Given the description of an element on the screen output the (x, y) to click on. 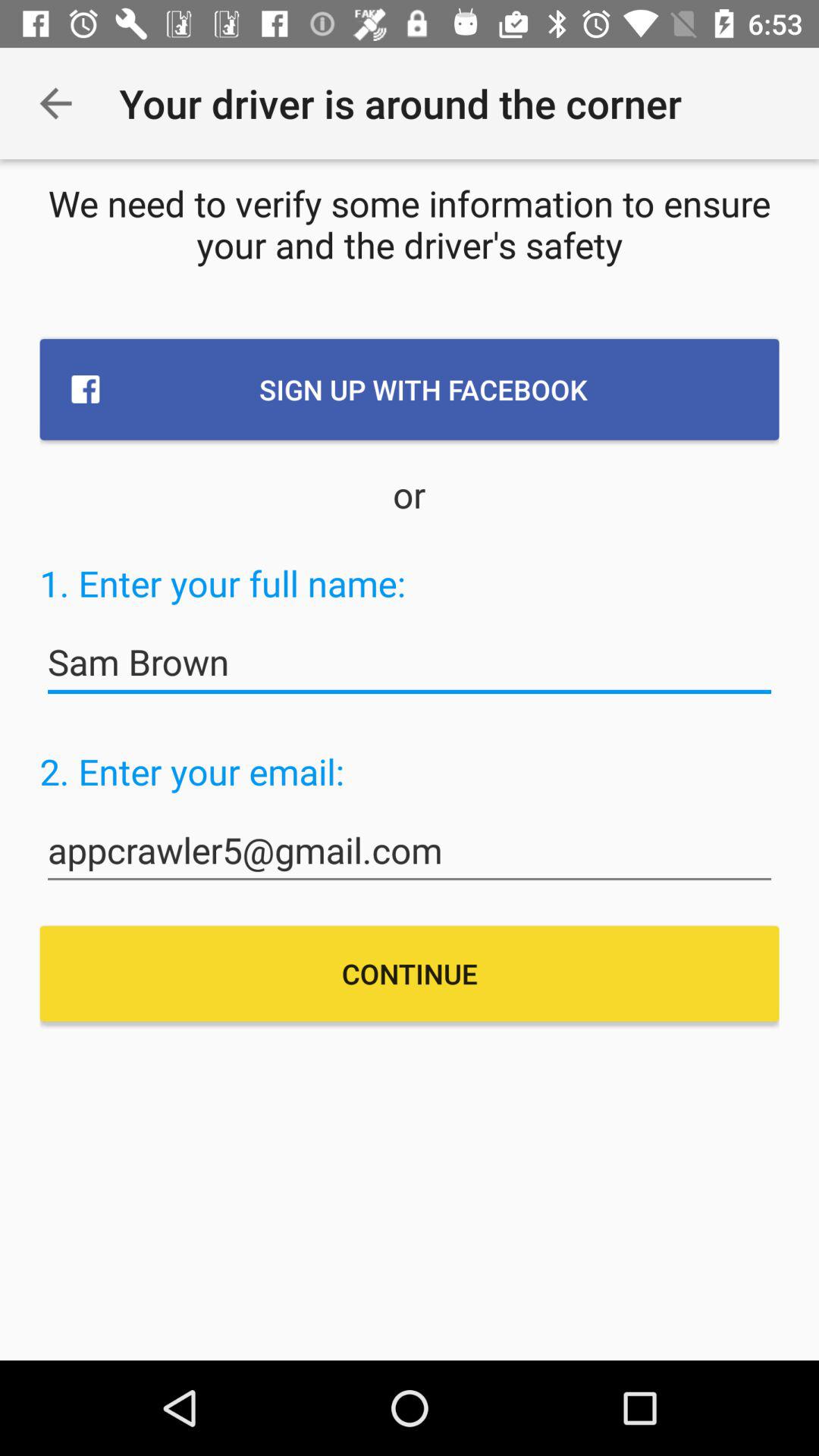
open the appcrawler5@gmail.com item (409, 850)
